Given the description of an element on the screen output the (x, y) to click on. 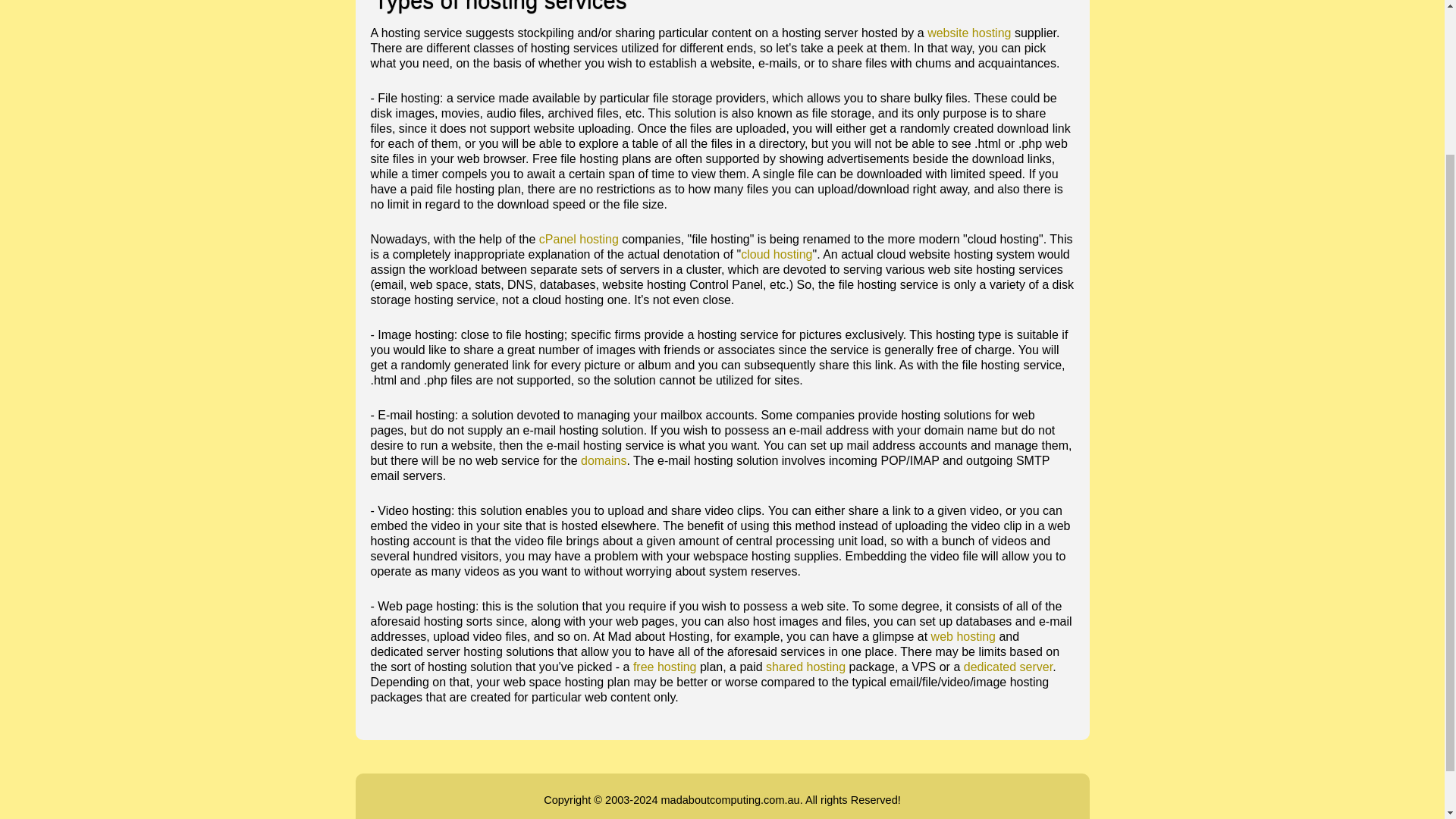
web hosting (963, 635)
website hosting (968, 32)
dedicated server (1007, 666)
cloud hosting (776, 254)
cPanel hosting (578, 238)
domains (603, 460)
madaboutcomputing.com.au (730, 799)
shared hosting (805, 666)
free hosting (665, 666)
